Given the description of an element on the screen output the (x, y) to click on. 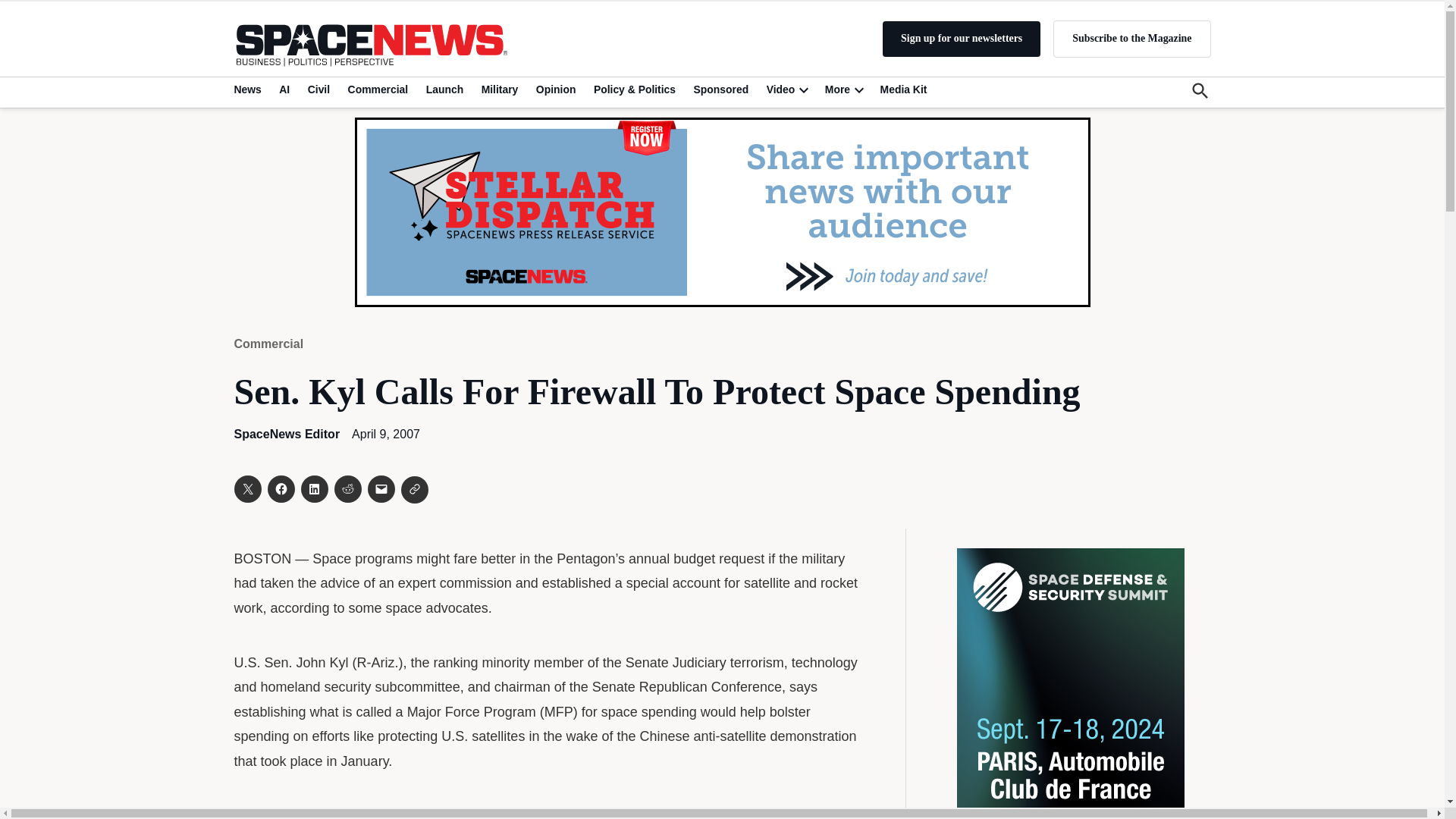
Click to share on LinkedIn (313, 488)
Sign up for our newsletters (961, 38)
AI (284, 89)
Click to share on Reddit (347, 488)
Click to share on Facebook (280, 488)
Click to email a link to a friend (380, 488)
Click to share on Clipboard (414, 489)
News (249, 89)
Civil (318, 89)
Subscribe to the Magazine (1130, 38)
Click to share on X (246, 488)
